Given the description of an element on the screen output the (x, y) to click on. 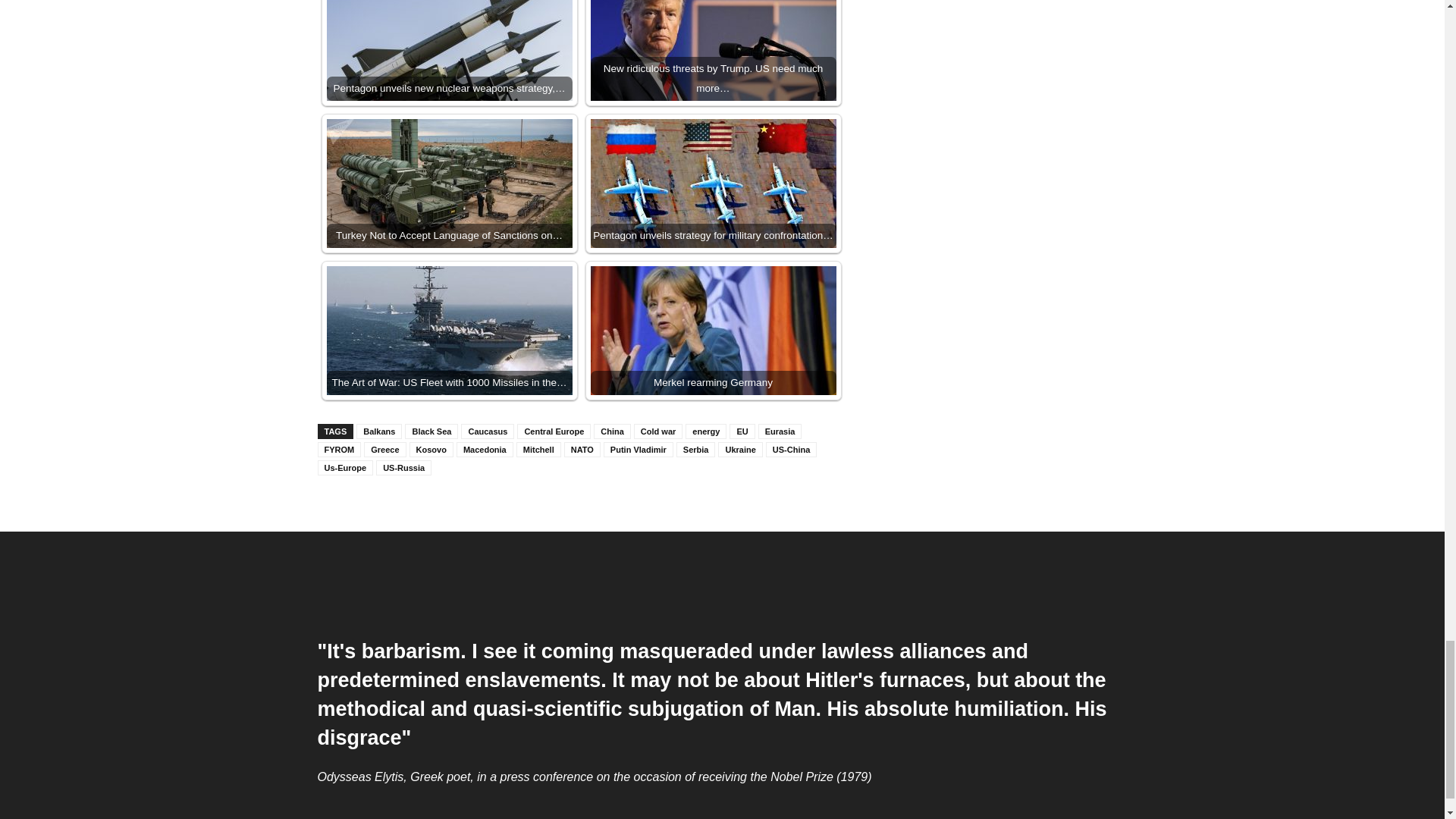
Merkel rearming Germany (712, 330)
